Given the description of an element on the screen output the (x, y) to click on. 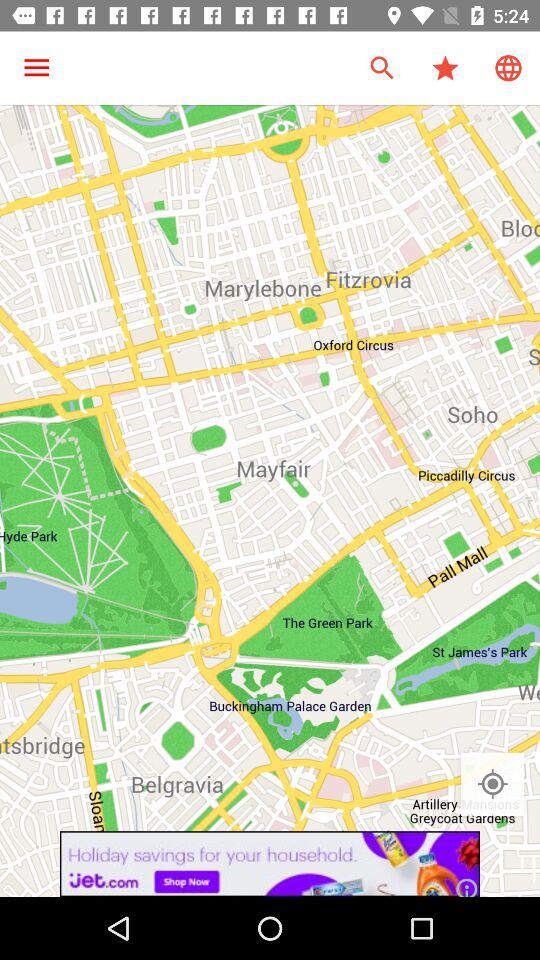
advertisement (270, 864)
